Given the description of an element on the screen output the (x, y) to click on. 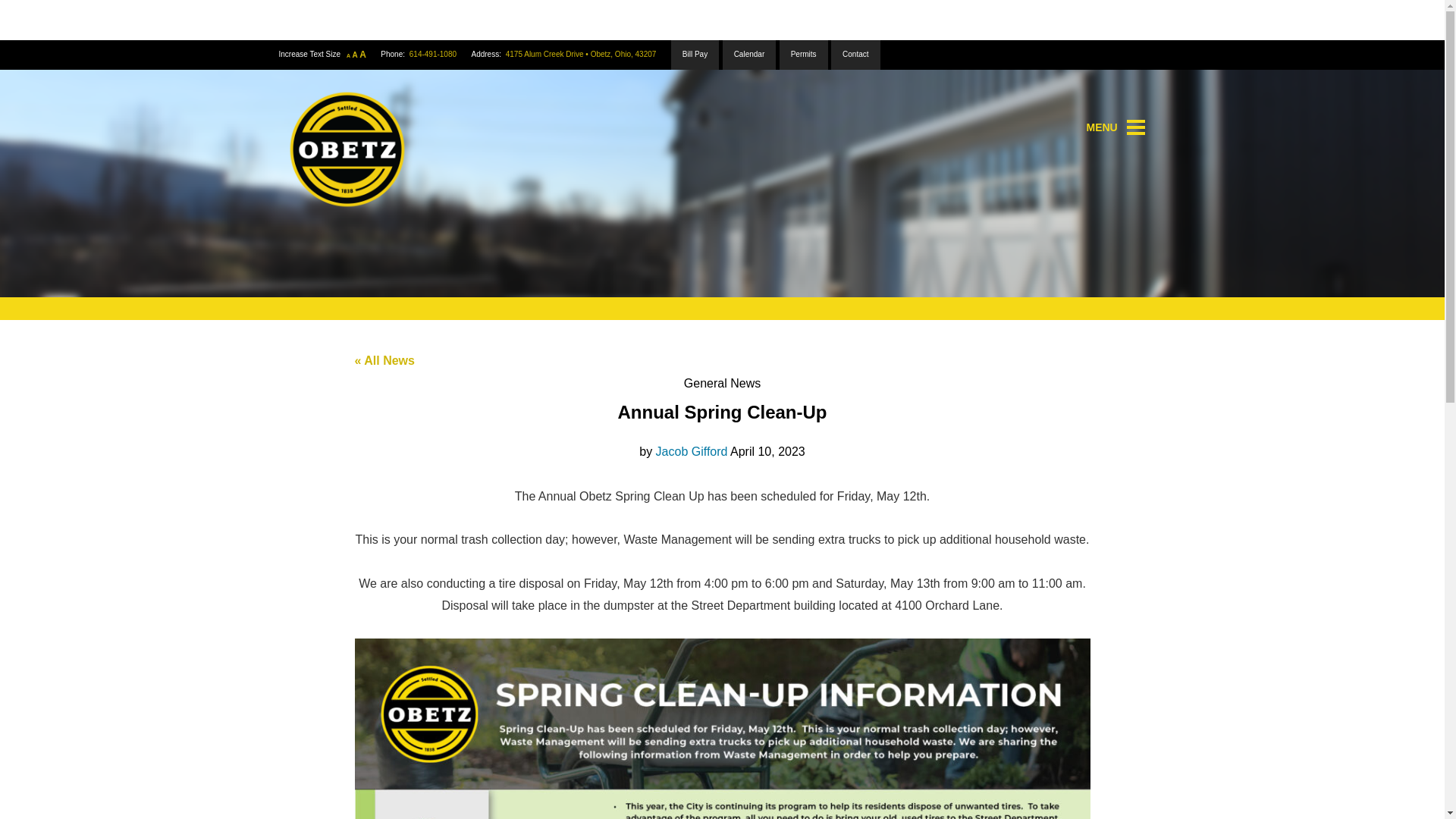
Contact (855, 54)
General News (722, 382)
Calendar (749, 54)
Bill Pay (695, 54)
614-491-1080 (433, 53)
Jacob Gifford (692, 451)
Permits (803, 54)
2023-04-10T14:04:00-04:00 (767, 451)
